Given the description of an element on the screen output the (x, y) to click on. 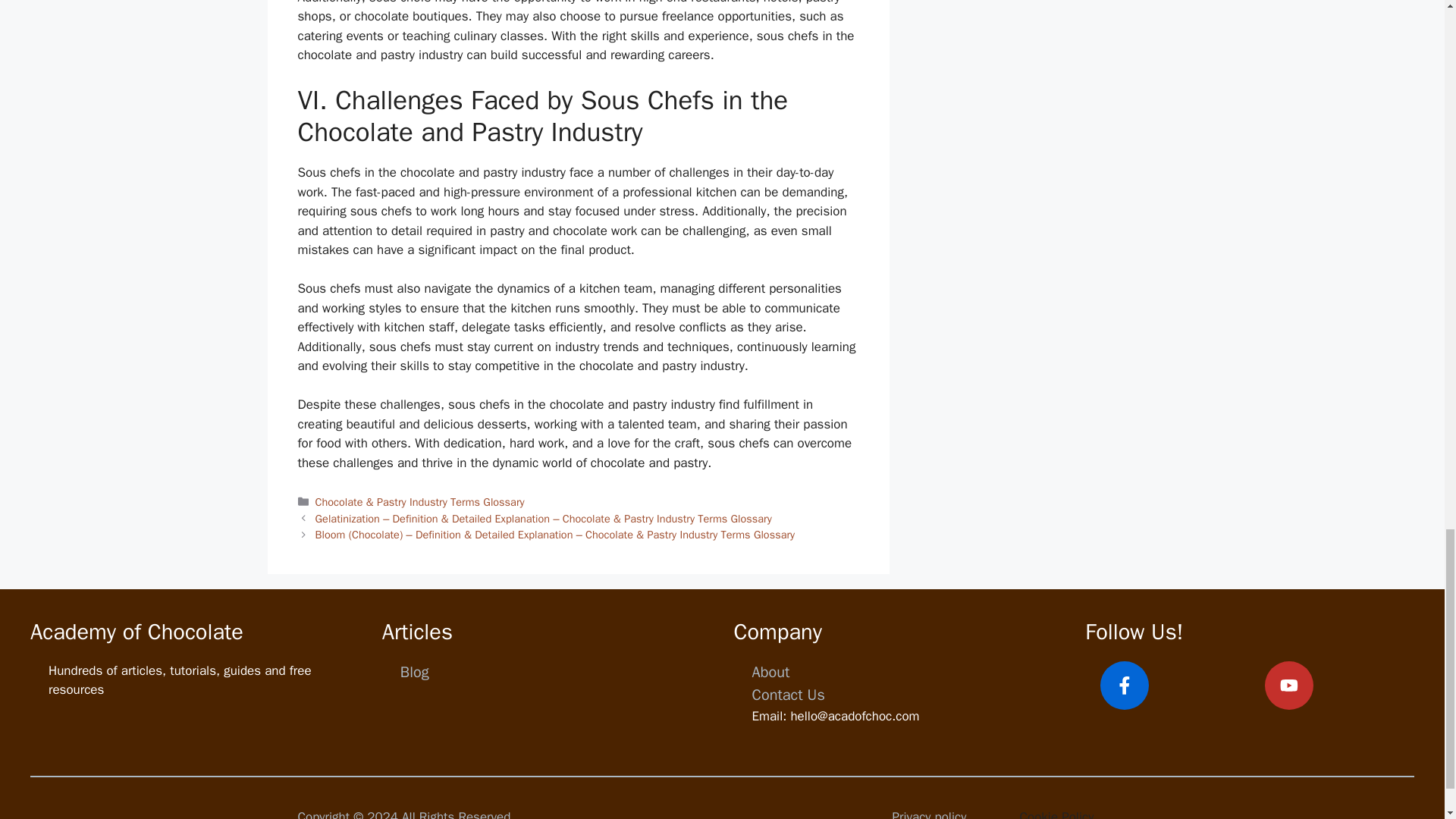
About (771, 671)
Blog (414, 671)
Contact Us (788, 694)
Academy of Chocolate (136, 632)
